Given the description of an element on the screen output the (x, y) to click on. 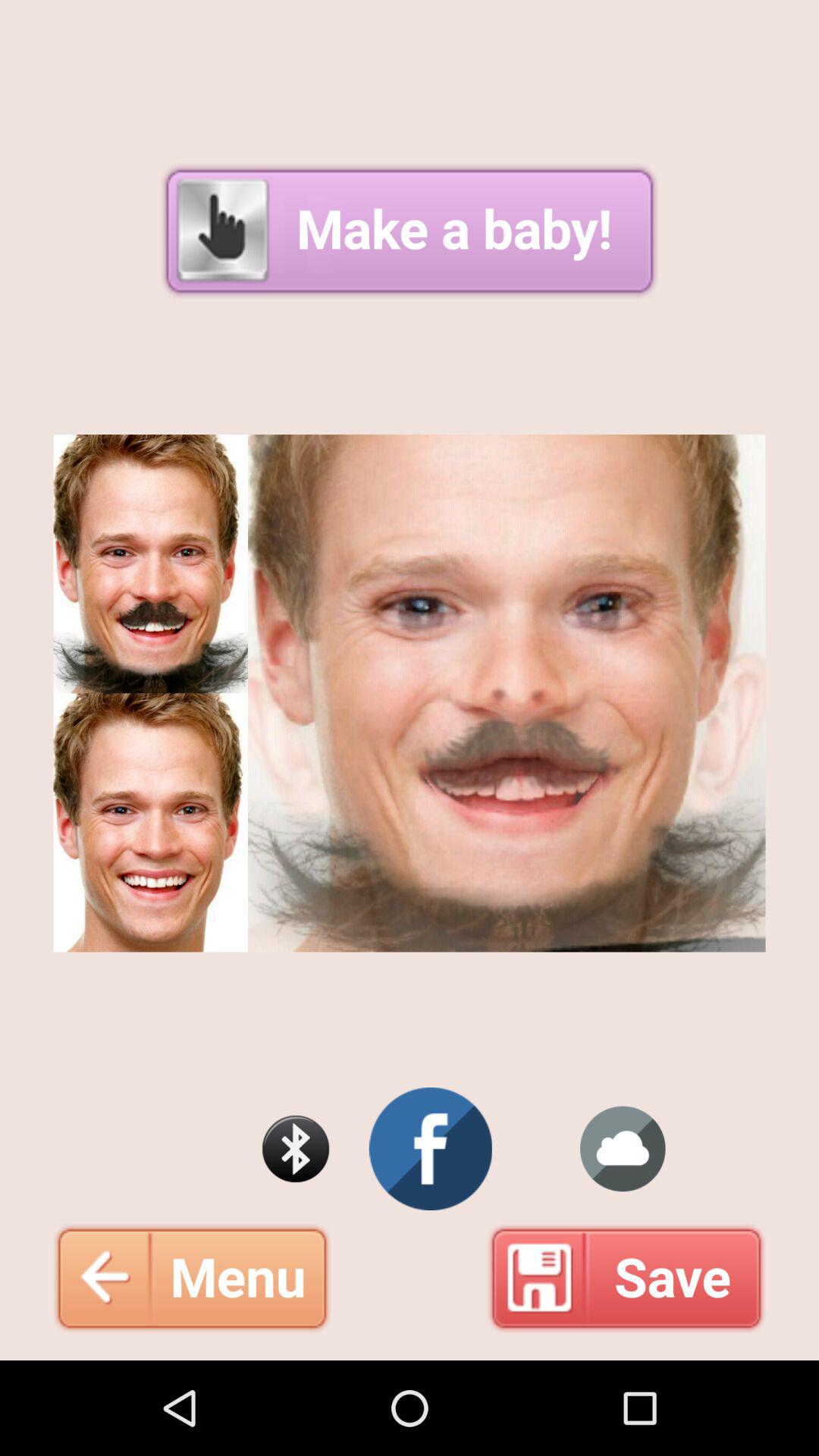
turn off menu (192, 1278)
